Given the description of an element on the screen output the (x, y) to click on. 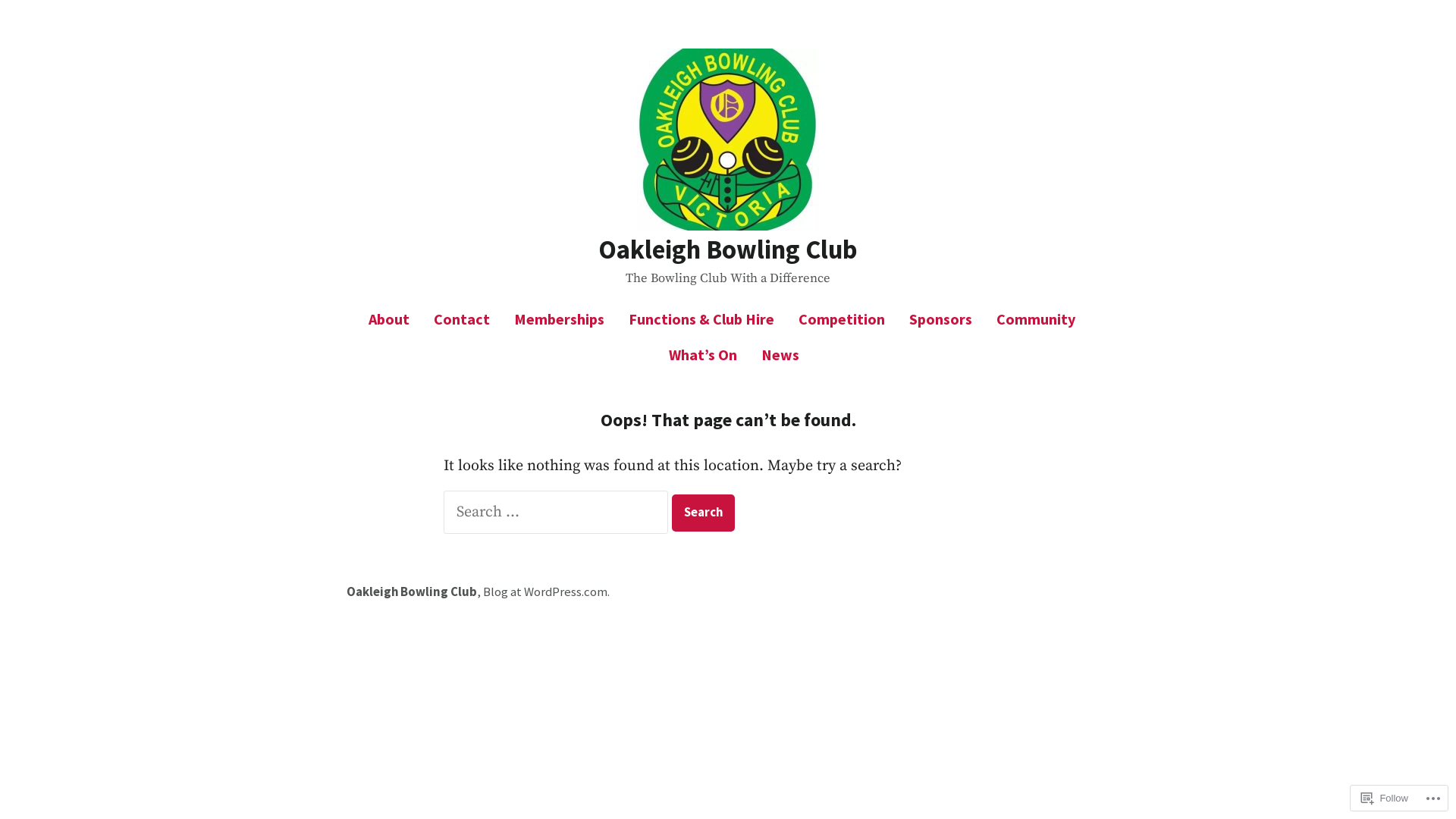
Sponsors Element type: text (940, 318)
Oakleigh Bowling Club Element type: text (727, 248)
News Element type: text (774, 355)
Blog at WordPress.com. Element type: text (546, 591)
Community Element type: text (1035, 318)
Contact Element type: text (461, 318)
Search Element type: text (702, 512)
About Element type: text (394, 318)
Memberships Element type: text (559, 318)
Competition Element type: text (841, 318)
Functions & Club Hire Element type: text (701, 318)
Oakleigh Bowling Club Element type: text (411, 591)
Follow Element type: text (1384, 797)
